Given the description of an element on the screen output the (x, y) to click on. 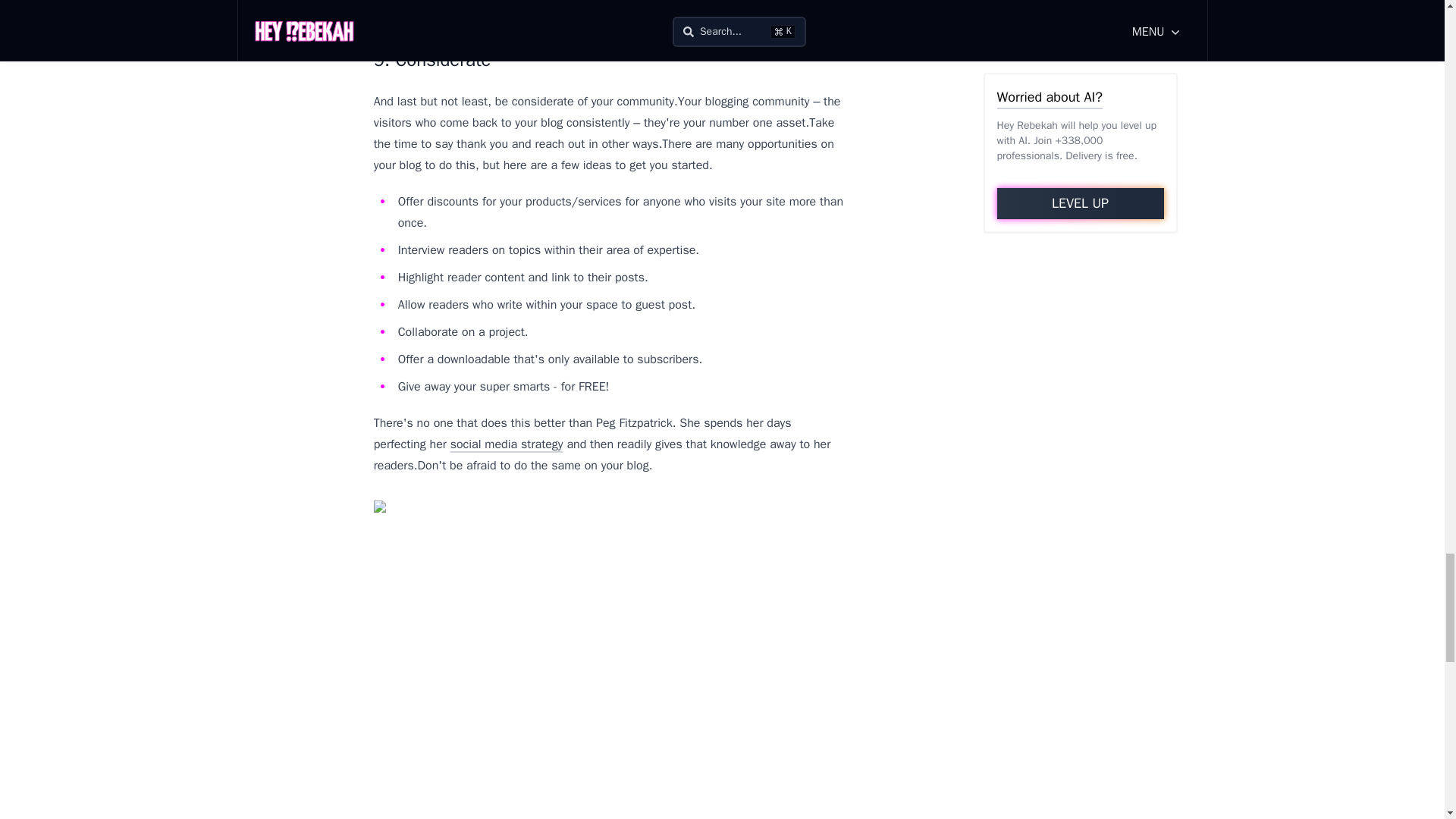
social media strategy (506, 444)
